Given the description of an element on the screen output the (x, y) to click on. 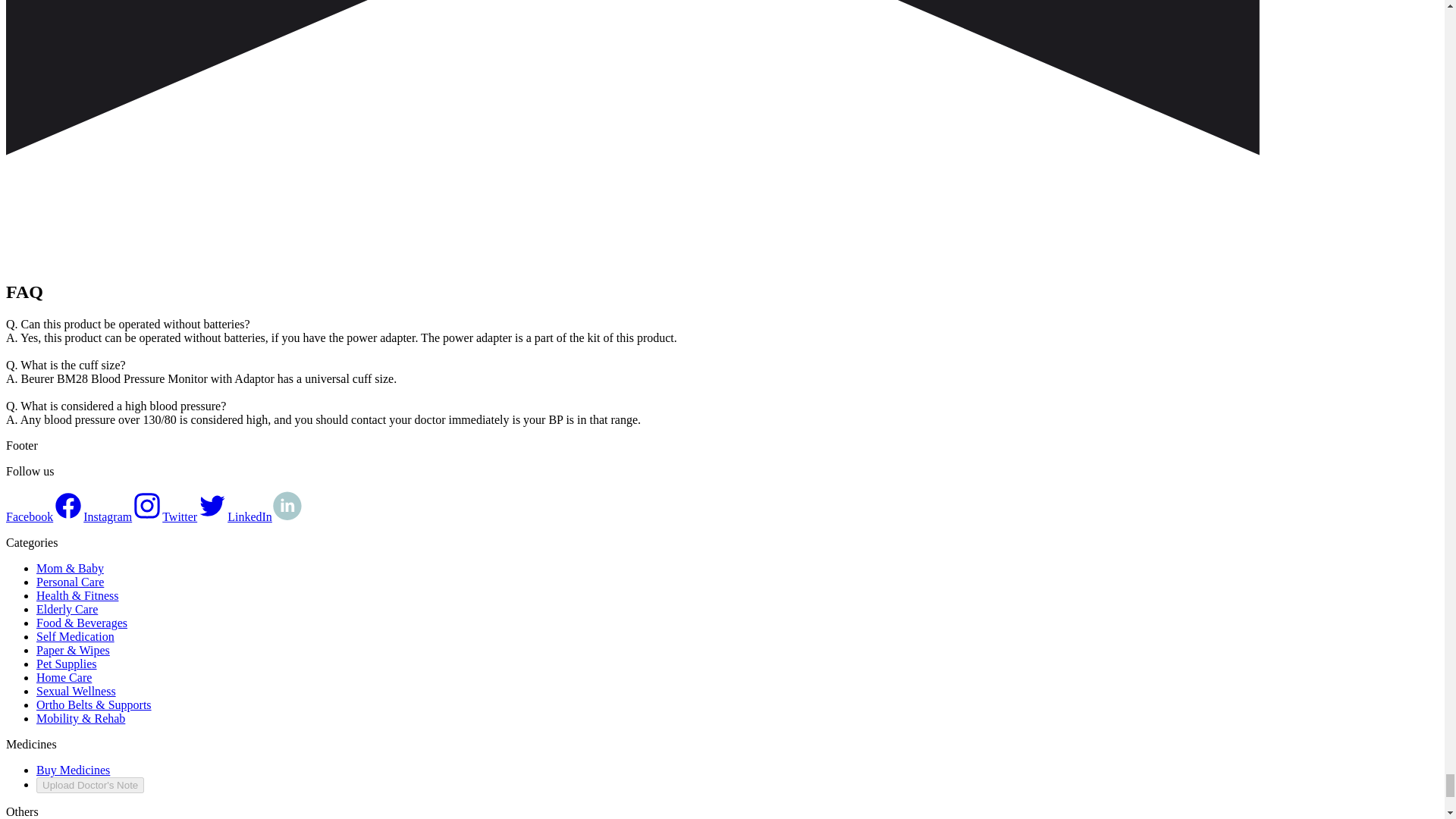
Facebook (43, 516)
Self Medication (75, 635)
Elderly Care (66, 608)
Pet Supplies (66, 663)
Instagram (121, 516)
Personal Care (69, 581)
LinkedIn (264, 516)
Twitter (194, 516)
